Given the description of an element on the screen output the (x, y) to click on. 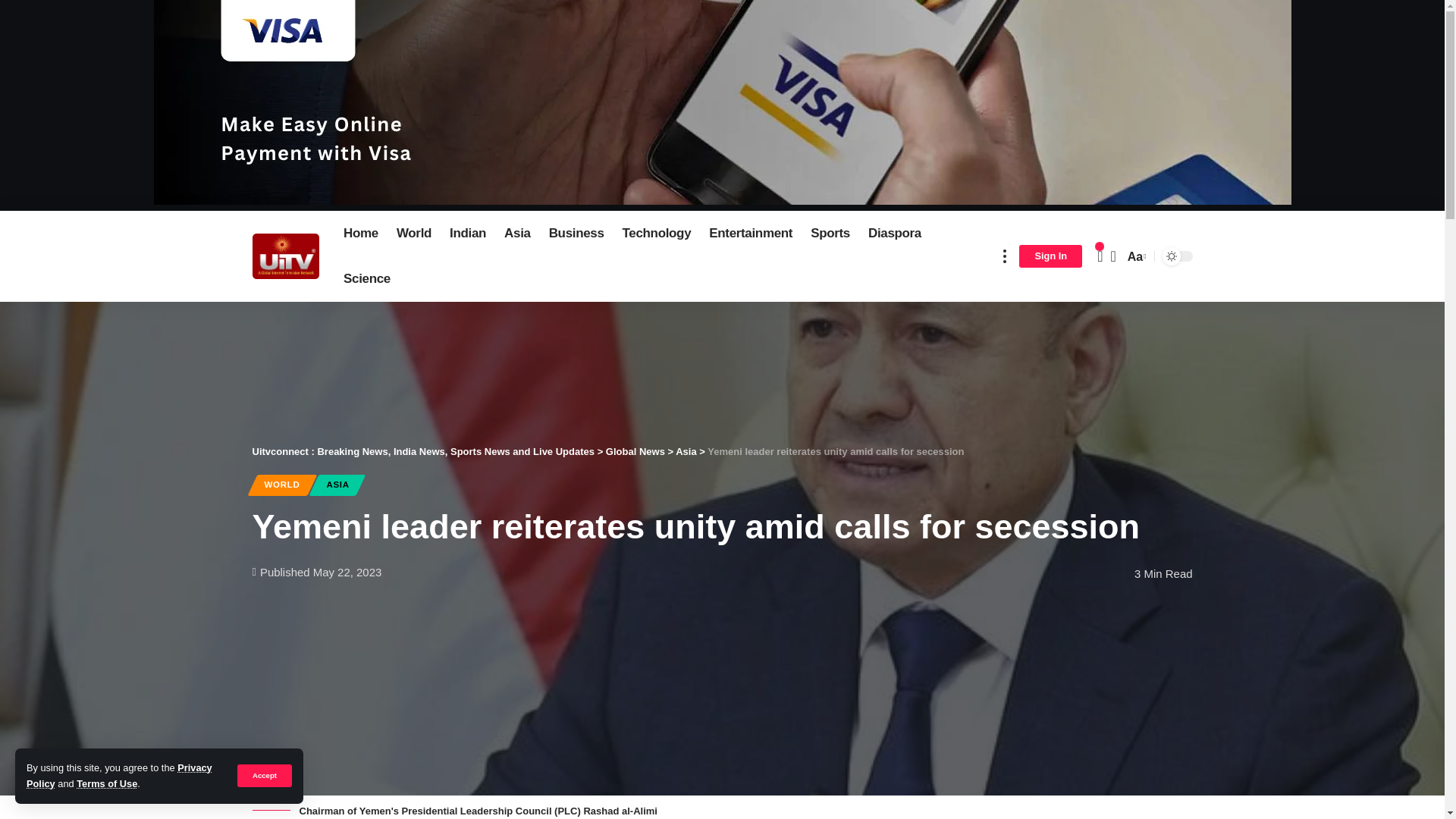
Science (366, 279)
World (414, 233)
Home (360, 233)
Accept (264, 775)
Sports (830, 233)
Terms of Use (106, 783)
Entertainment (751, 233)
Diaspora (894, 233)
